Given the description of an element on the screen output the (x, y) to click on. 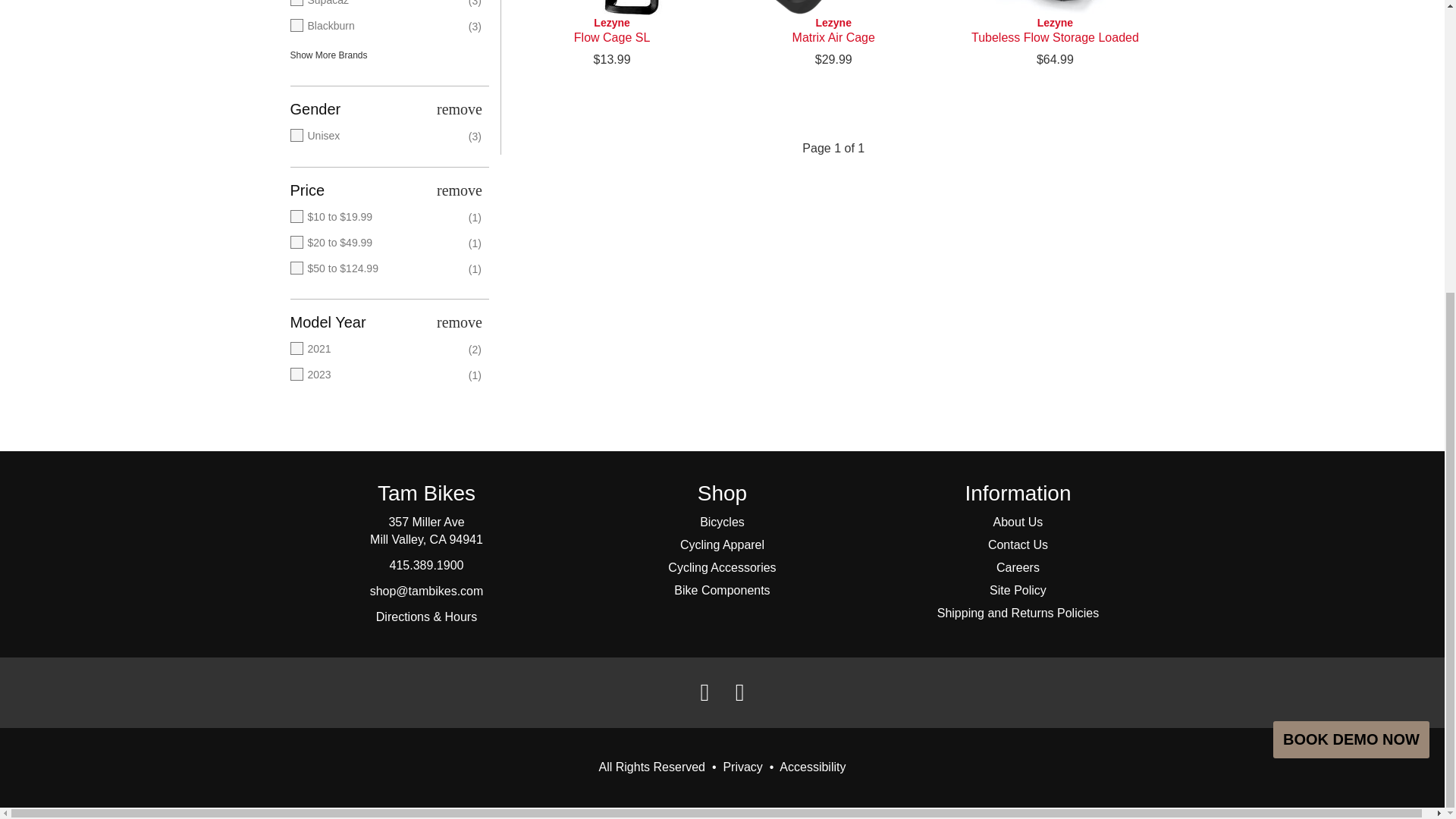
Lezyne Flow Cage SL (611, 7)
BOOK DEMO NOW (1350, 293)
Lezyne Tubeless Flow Storage Loaded (1054, 7)
Lezyne Matrix Air Cage  (833, 30)
Lezyne Matrix Air Cage  (833, 7)
Lezyne Flow Cage SL (611, 30)
